Given the description of an element on the screen output the (x, y) to click on. 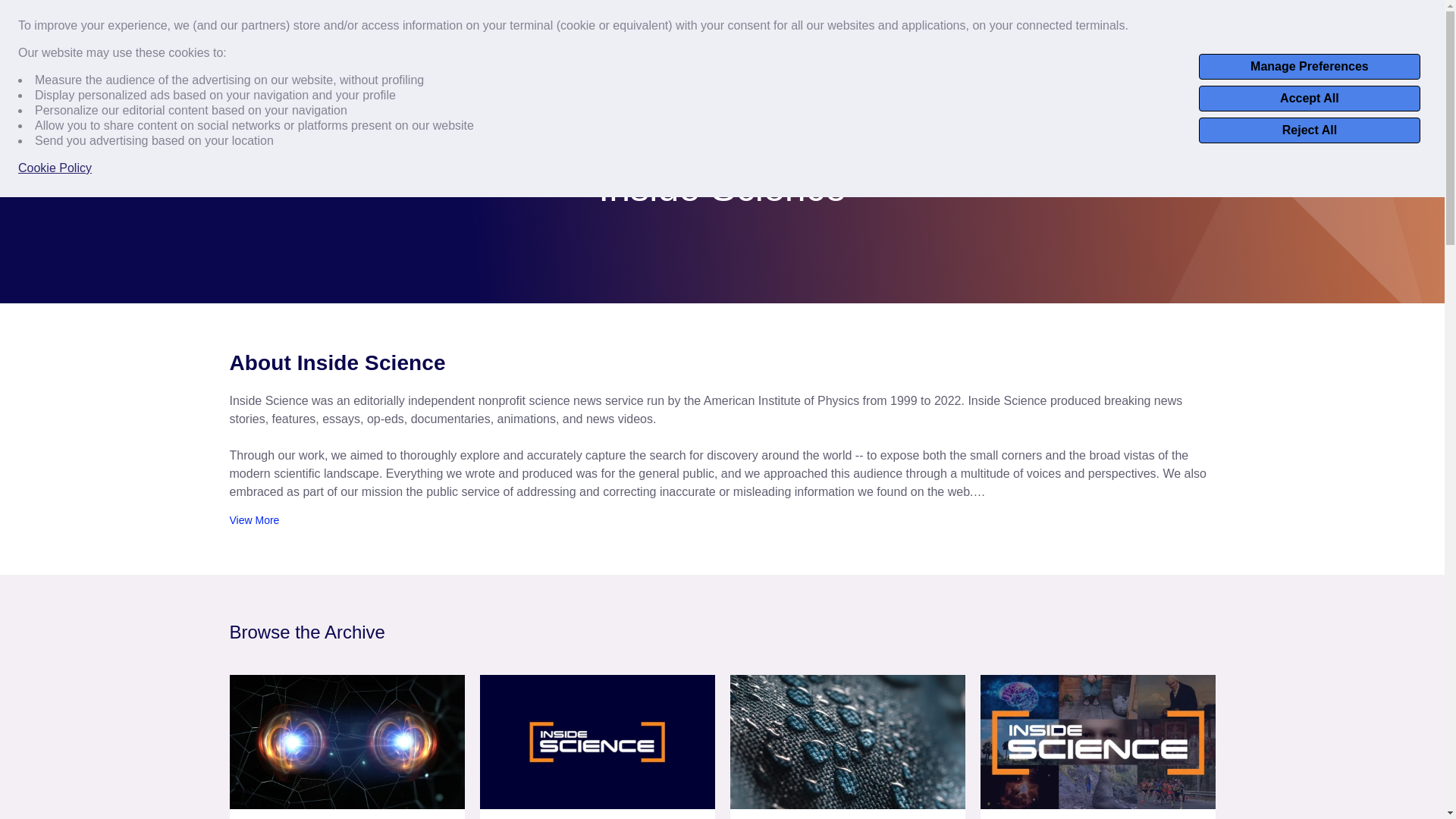
Manage Preferences (1309, 66)
Accept All (1309, 98)
Federation (471, 71)
Giving (1404, 19)
Events (1271, 19)
Newsletters (1339, 19)
Reject All (1309, 130)
Cookie Policy (54, 168)
